Given the description of an element on the screen output the (x, y) to click on. 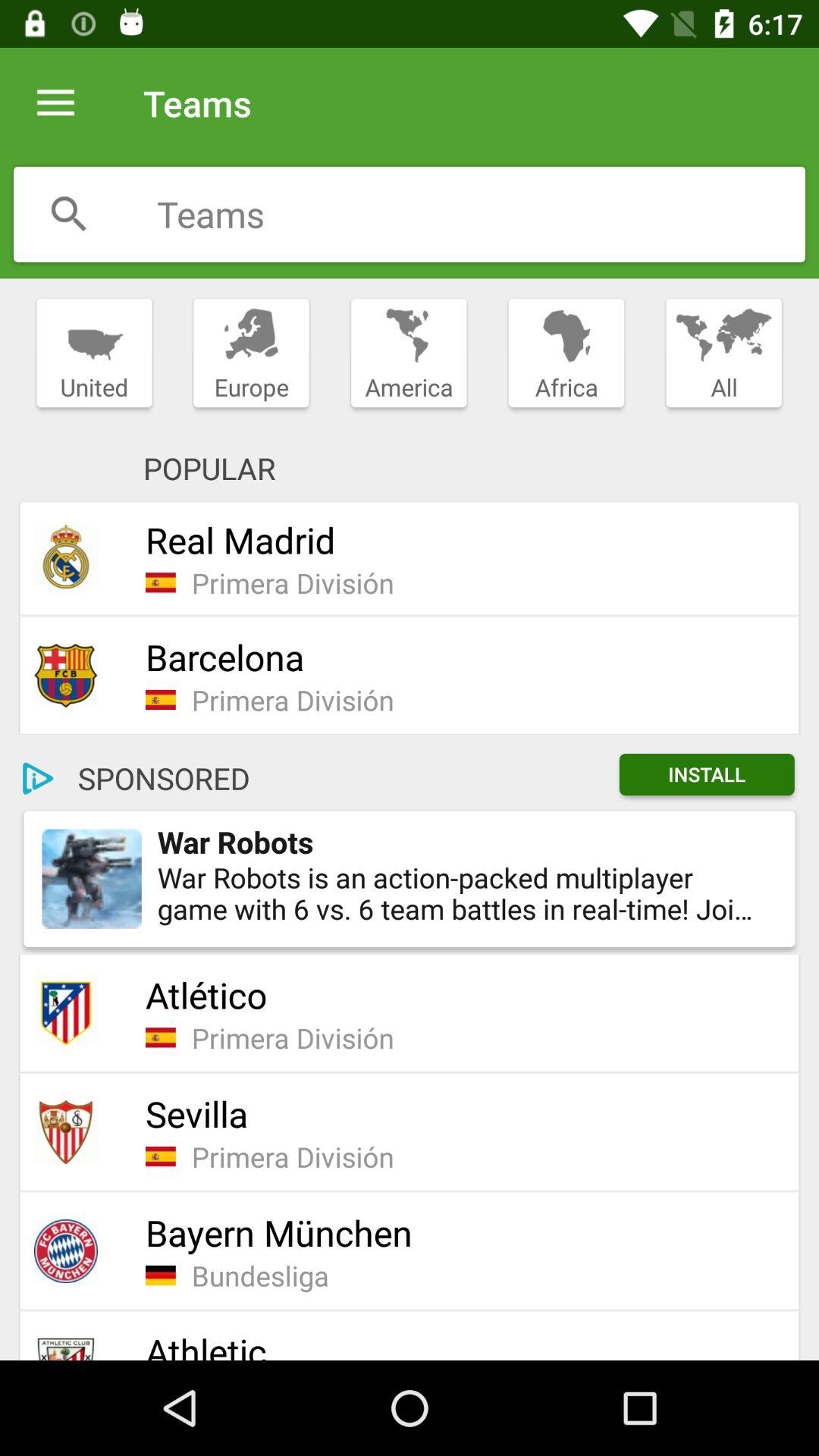
search (69, 214)
